Given the description of an element on the screen output the (x, y) to click on. 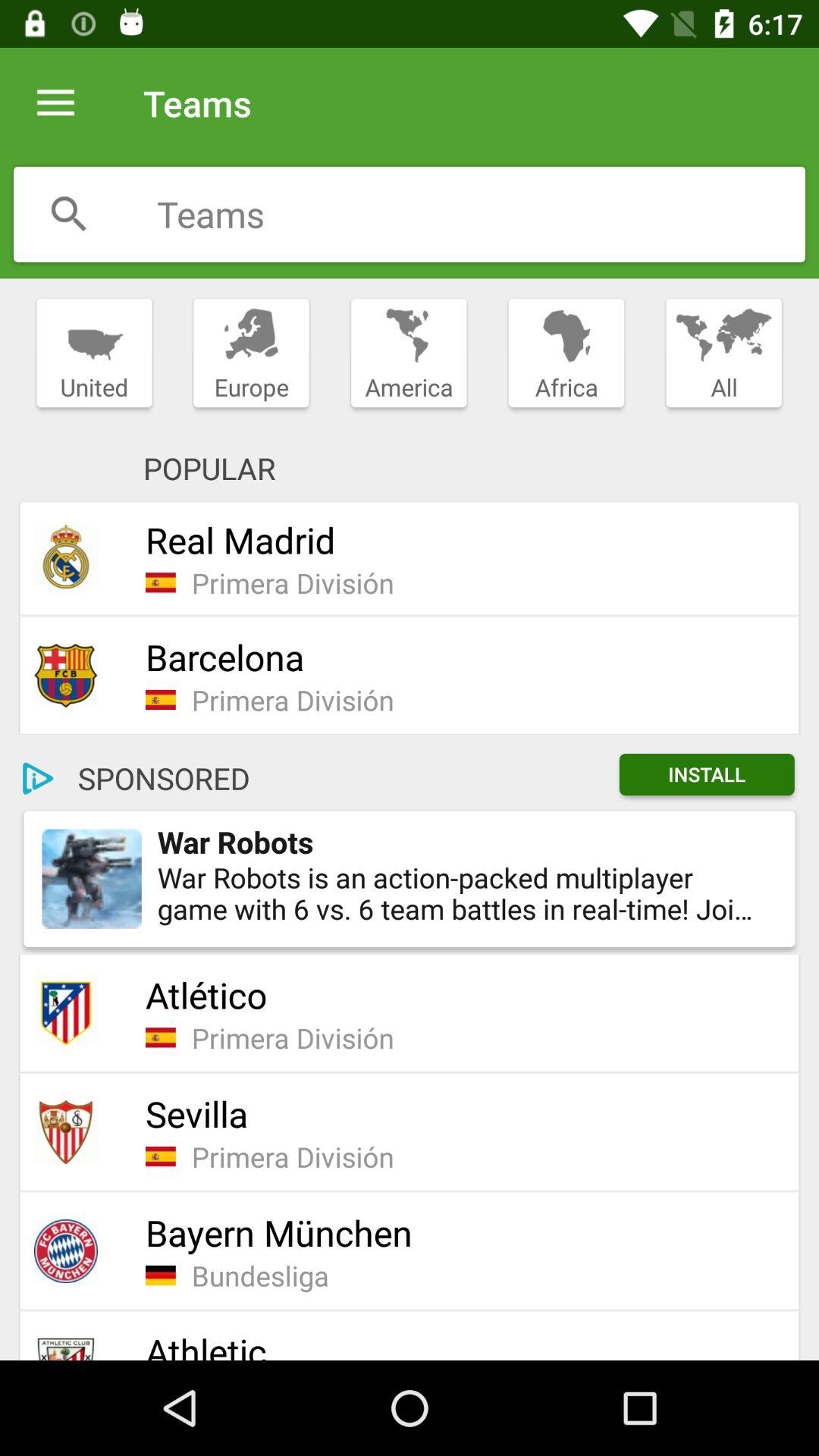
search (69, 214)
